Given the description of an element on the screen output the (x, y) to click on. 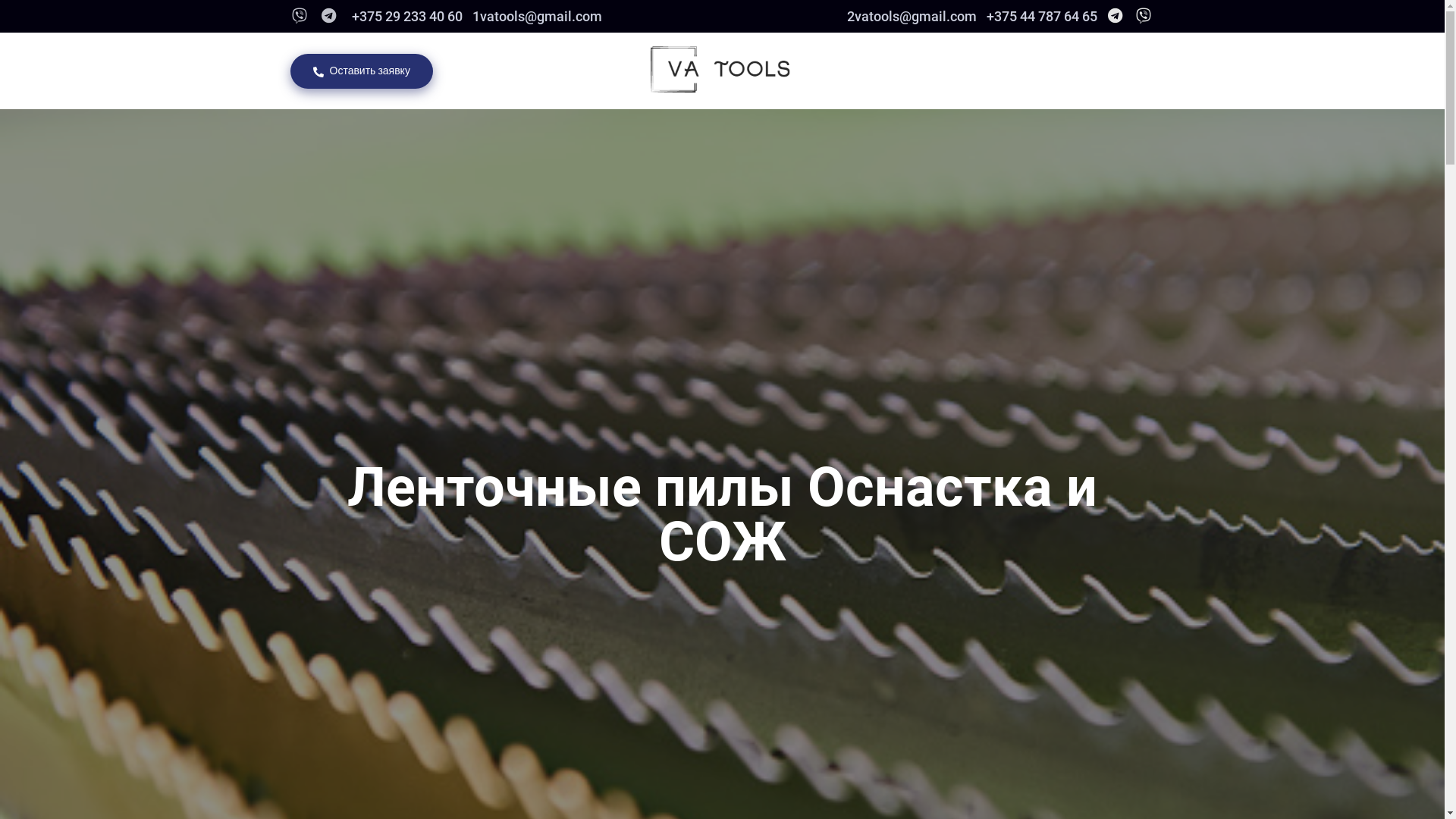
+375 29 233 40 60 Element type: text (404, 16)
+375 44 787 64 65 Element type: text (1039, 16)
